Given the description of an element on the screen output the (x, y) to click on. 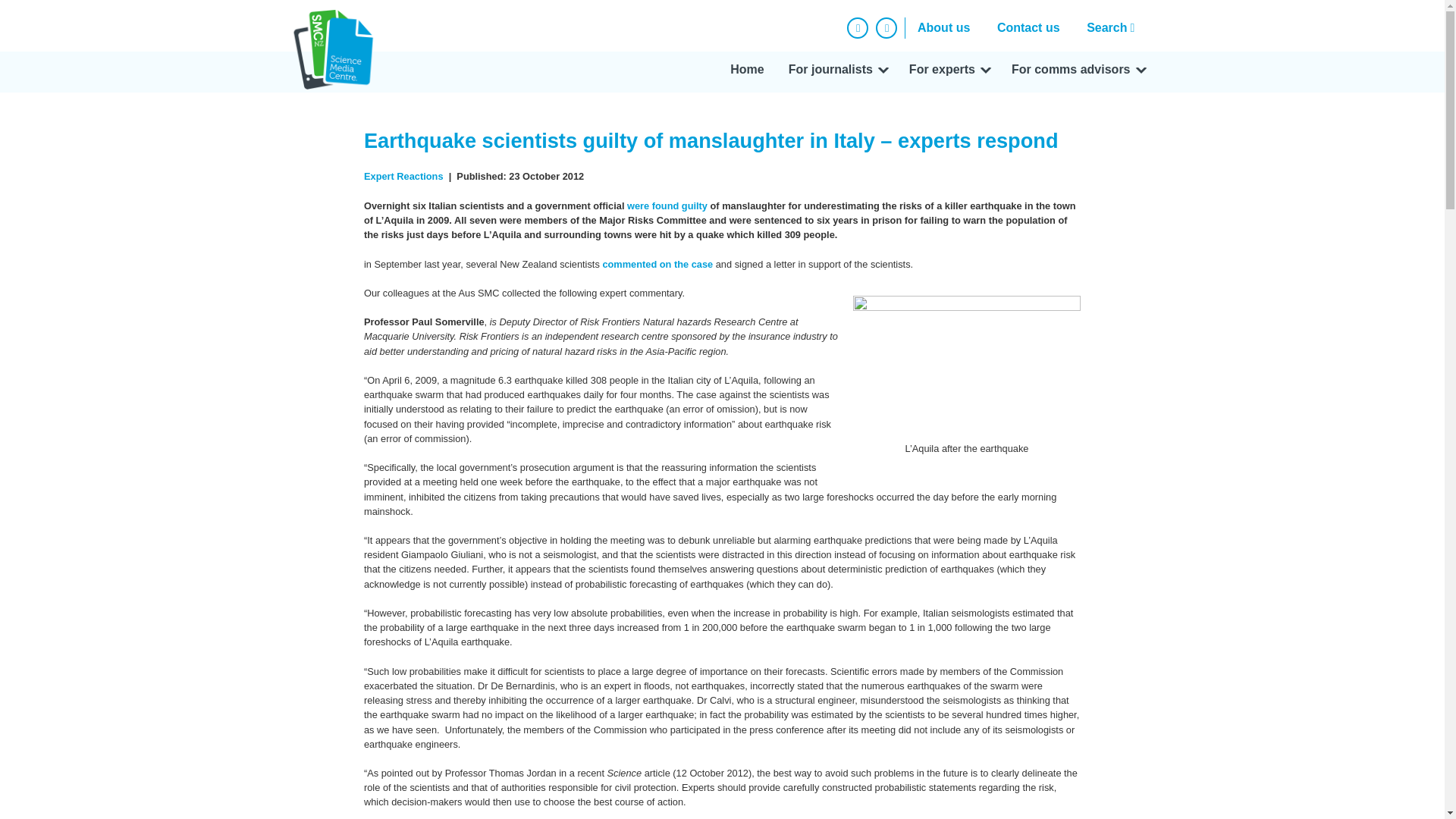
Facebook (857, 27)
Search (1114, 27)
About us (943, 27)
Home (746, 71)
Contact us (1028, 27)
Twitter (886, 27)
For journalists (836, 71)
l'aquila (966, 364)
For comms advisors (1076, 71)
For experts (947, 71)
